Given the description of an element on the screen output the (x, y) to click on. 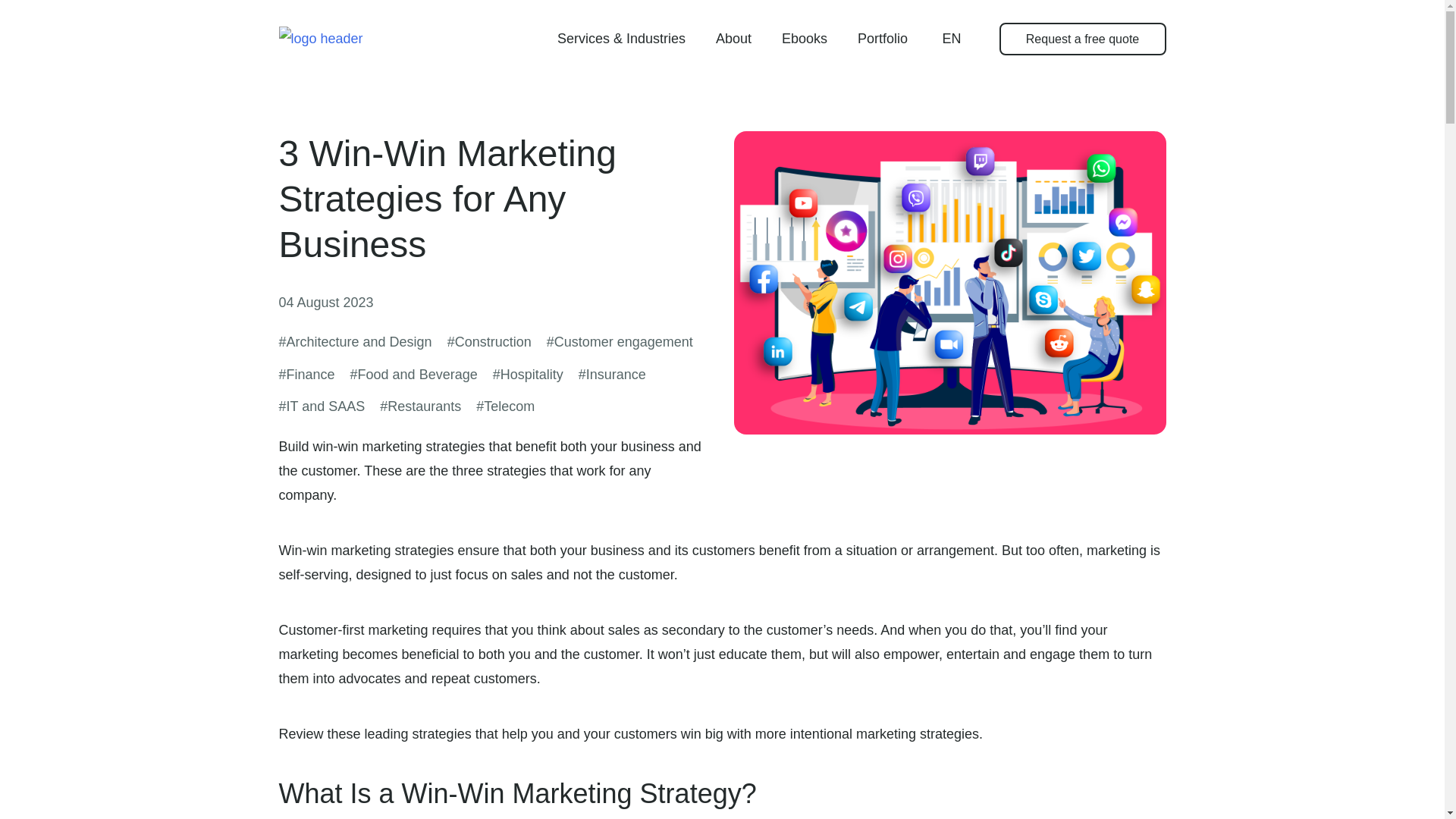
About (733, 39)
Portfolio (882, 39)
Request a free quote (1082, 38)
Ebooks (804, 39)
